Given the description of an element on the screen output the (x, y) to click on. 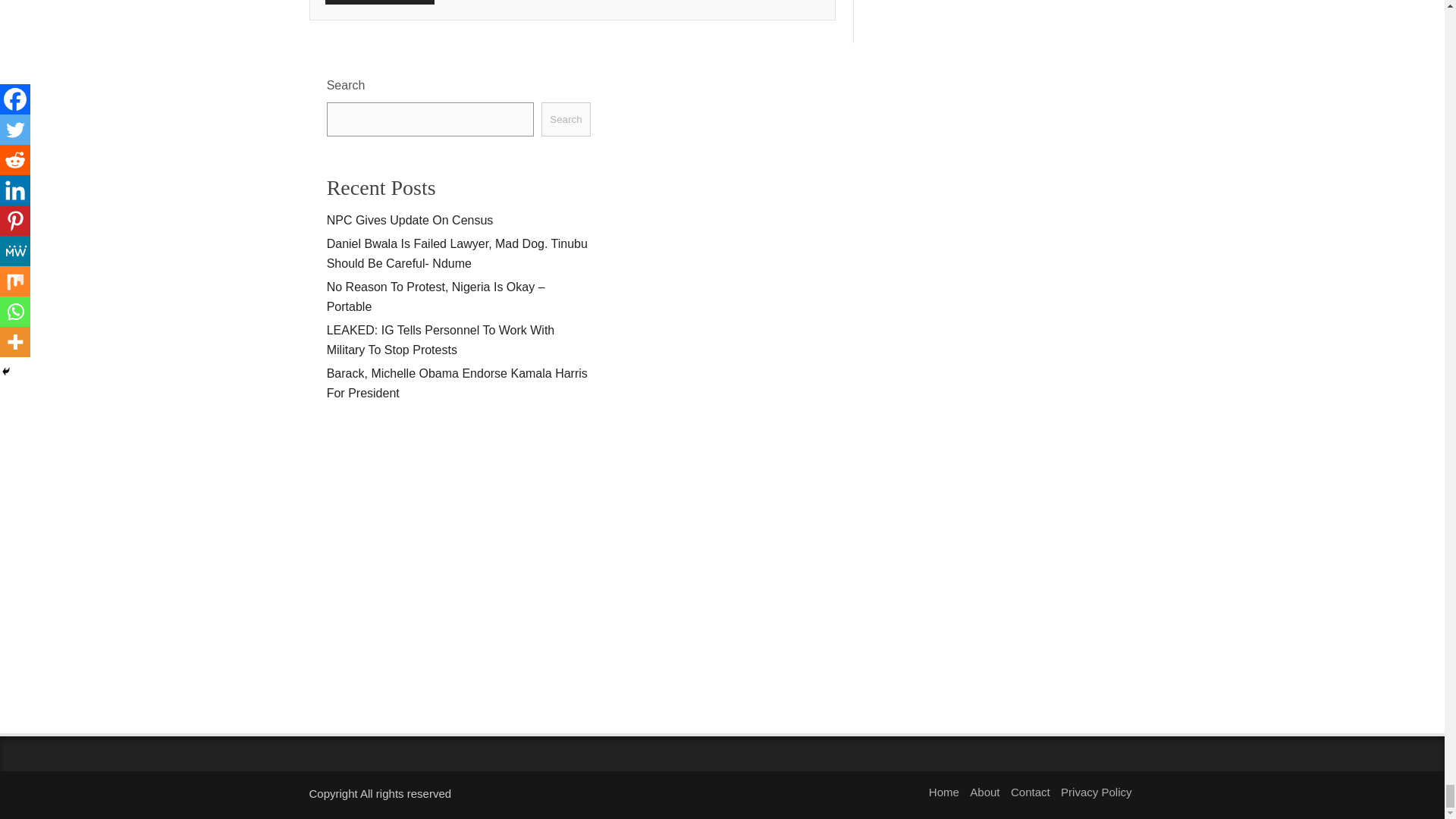
Post Comment (378, 2)
